Given the description of an element on the screen output the (x, y) to click on. 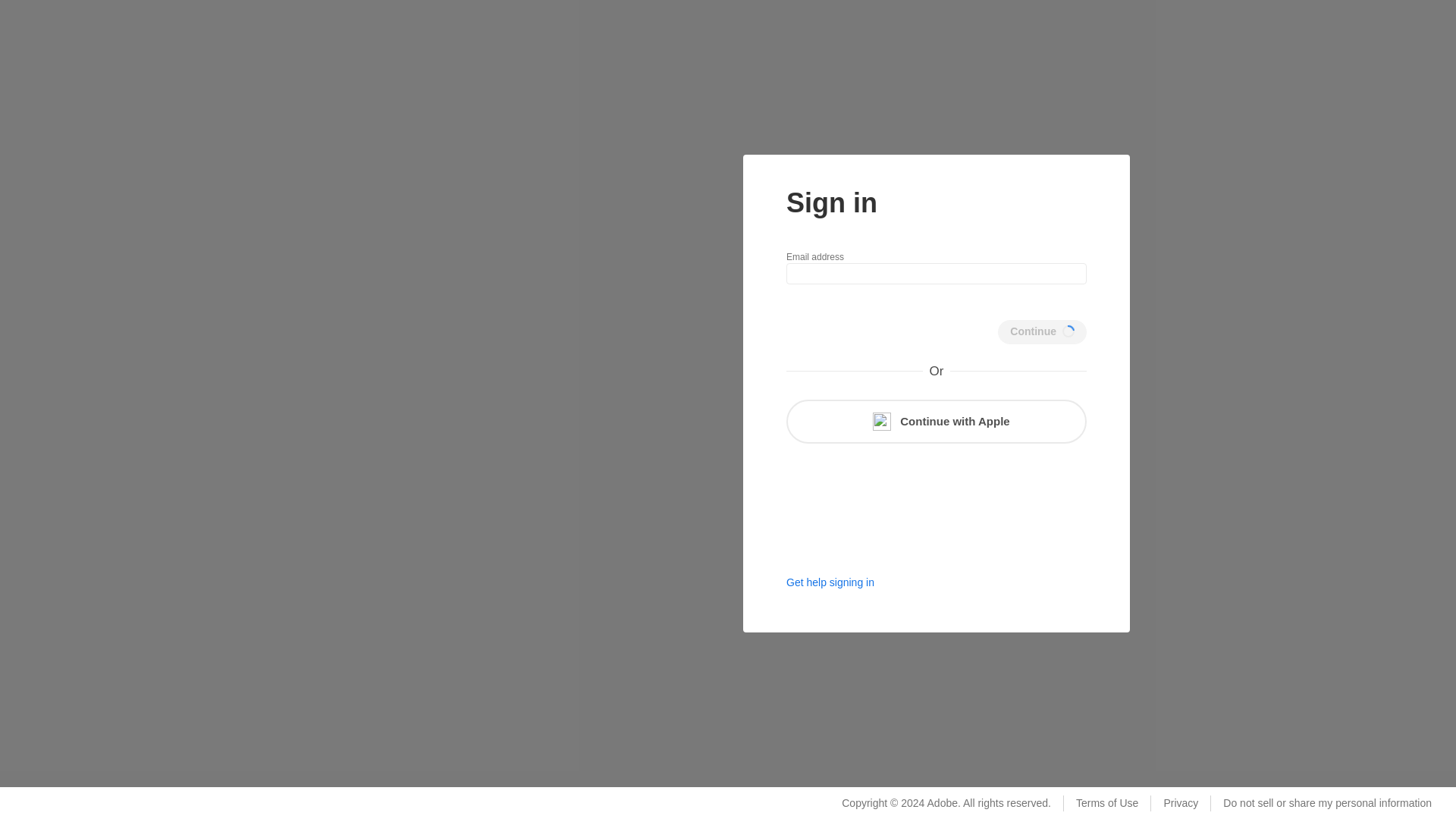
Do not sell or share my personal information (1326, 803)
Privacy (1179, 803)
Continue with Apple (936, 421)
Continue (1041, 331)
Terms of Use (1106, 803)
Get help signing in (830, 582)
